Given the description of an element on the screen output the (x, y) to click on. 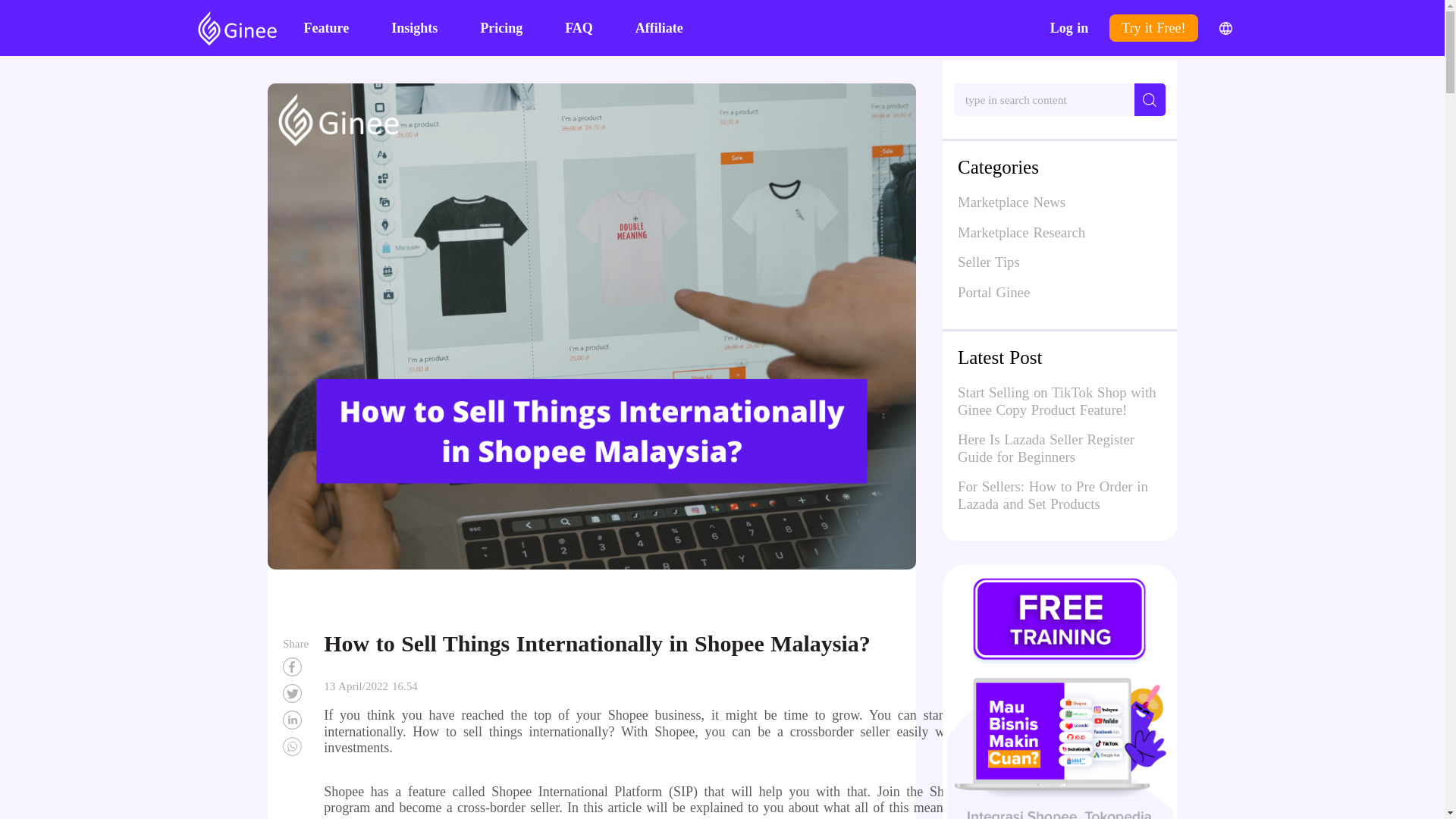
How to Sell Things Internationally in Shopee Malaysia? (295, 692)
Marketplace Research (1059, 232)
How to Sell Things Internationally in Shopee Malaysia? (295, 719)
Seller Tips (1059, 262)
Marketplace News (1059, 202)
How to Sell Things Internationally in Shopee Malaysia? (295, 746)
Here Is Lazada Seller Register Guide for Beginners (1046, 450)
For Sellers: How to Pre Order in Lazada and Set Products (1053, 497)
Portal Ginee (1059, 292)
